Given the description of an element on the screen output the (x, y) to click on. 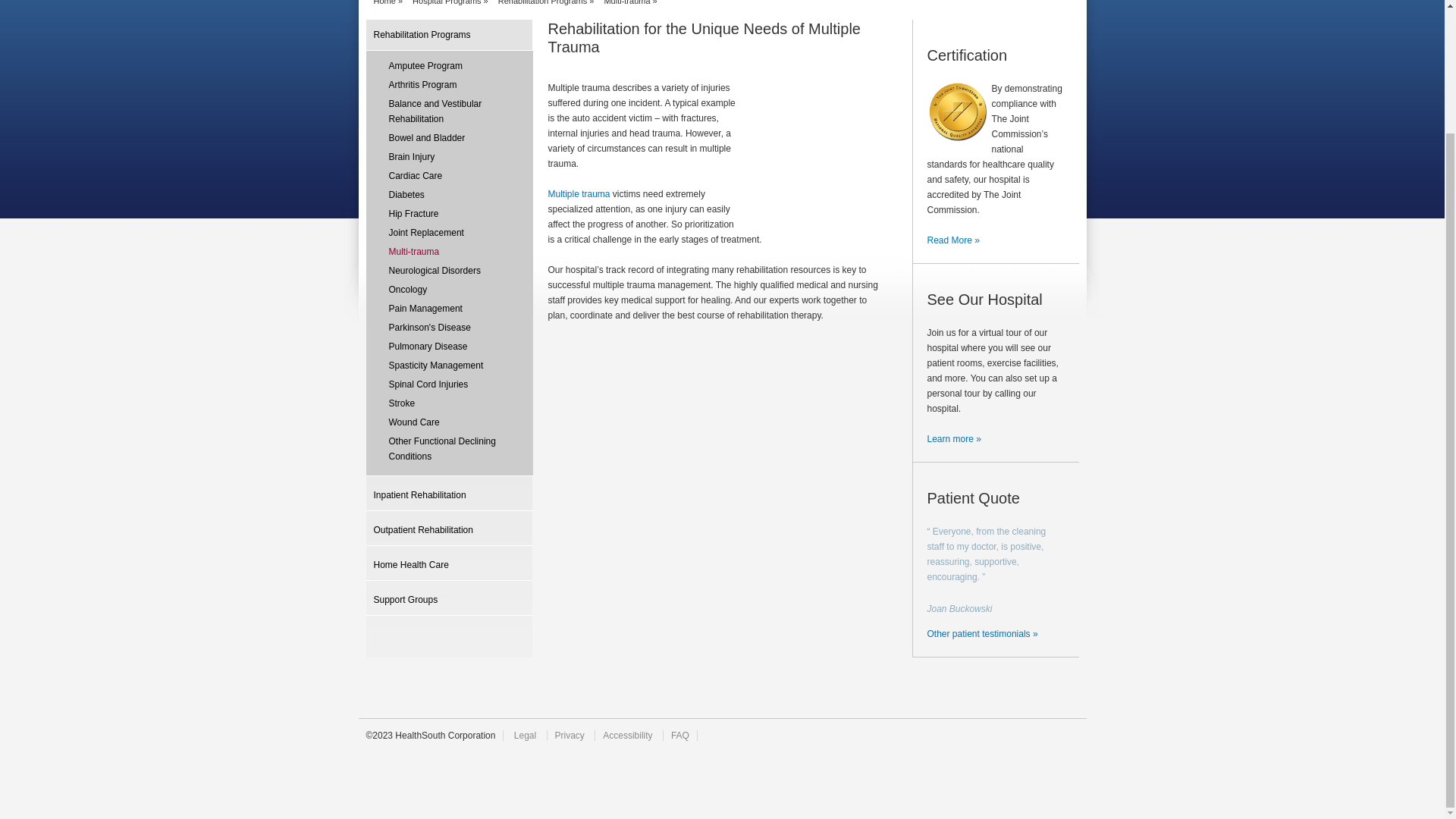
Balance and Vestibular Rehabilitation (448, 111)
Arthritis Program (448, 84)
Amputee Program (448, 65)
Rehabilitation Programs (541, 2)
Home (383, 2)
Rehabilitation Programs (448, 34)
Hospital Programs (446, 2)
